Given the description of an element on the screen output the (x, y) to click on. 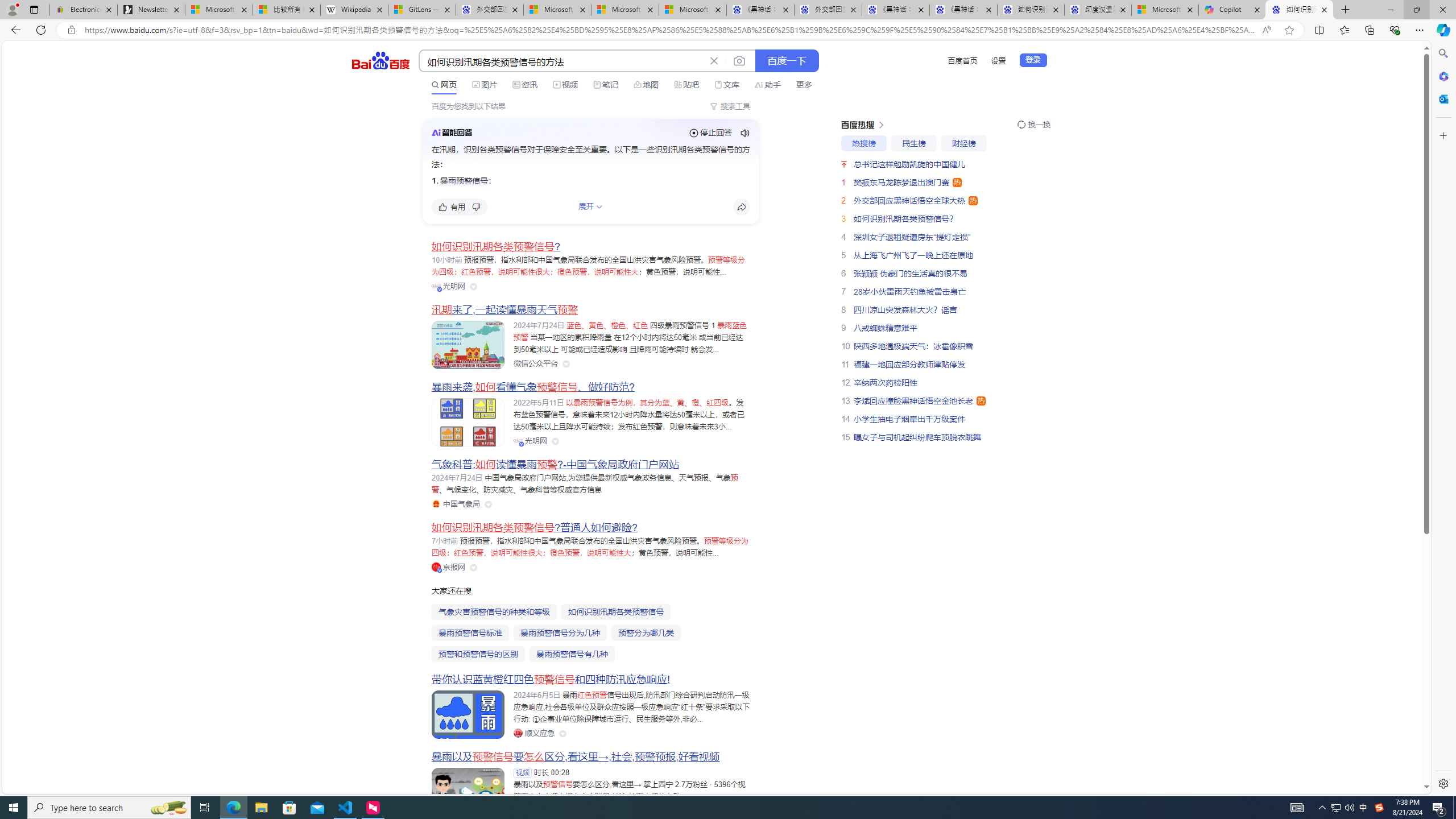
Collections (1369, 29)
Electronics, Cars, Fashion, Collectibles & More | eBay (83, 9)
Search (1442, 53)
Add this page to favorites (Ctrl+D) (1289, 29)
New Tab (1346, 9)
Class: sc-audio-svg _pause-icon_13ucw_87 (745, 132)
